Given the description of an element on the screen output the (x, y) to click on. 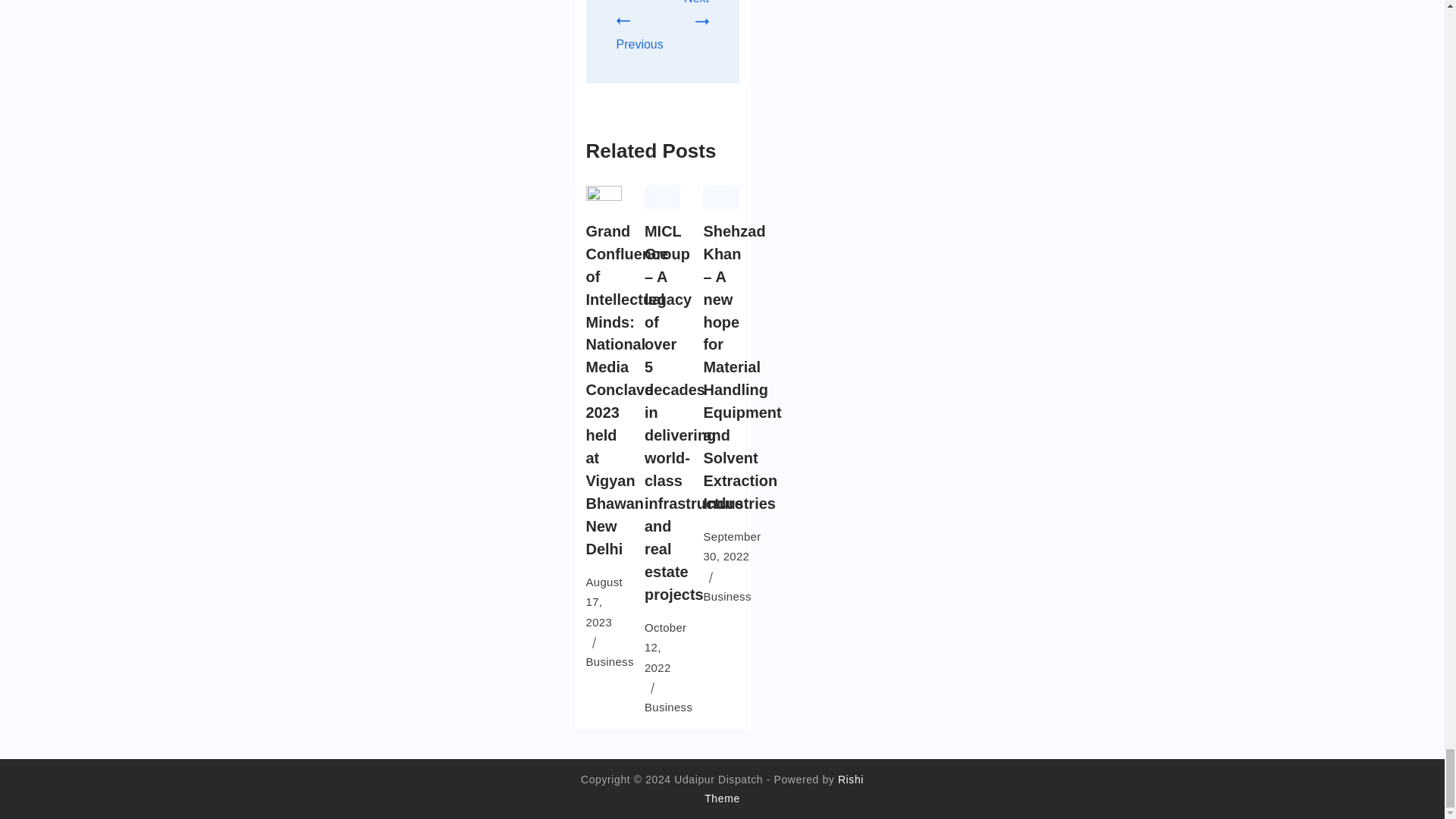
Business (669, 707)
Business (609, 661)
Previous (638, 32)
